Given the description of an element on the screen output the (x, y) to click on. 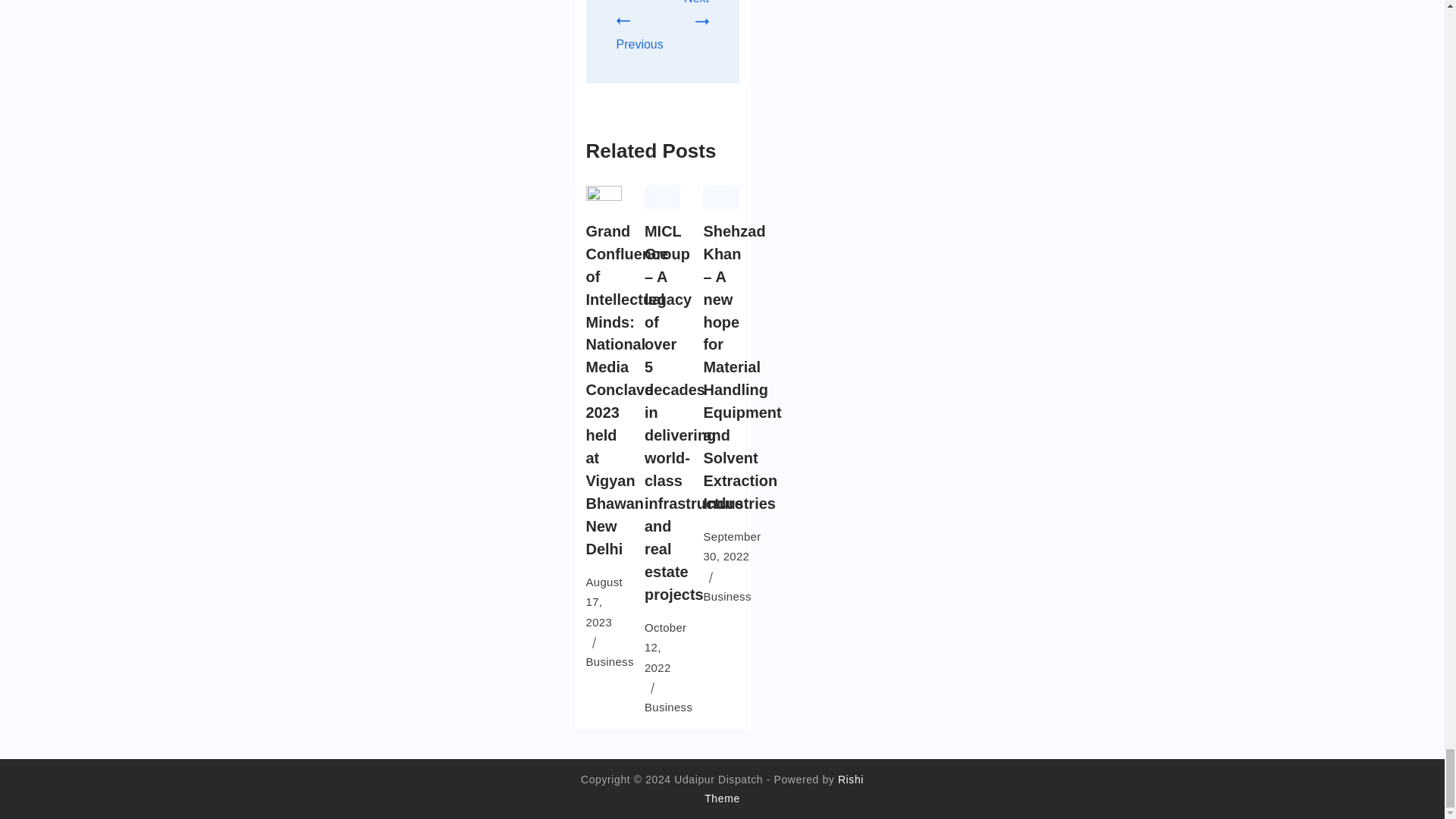
Business (669, 707)
Business (609, 661)
Previous (638, 32)
